Given the description of an element on the screen output the (x, y) to click on. 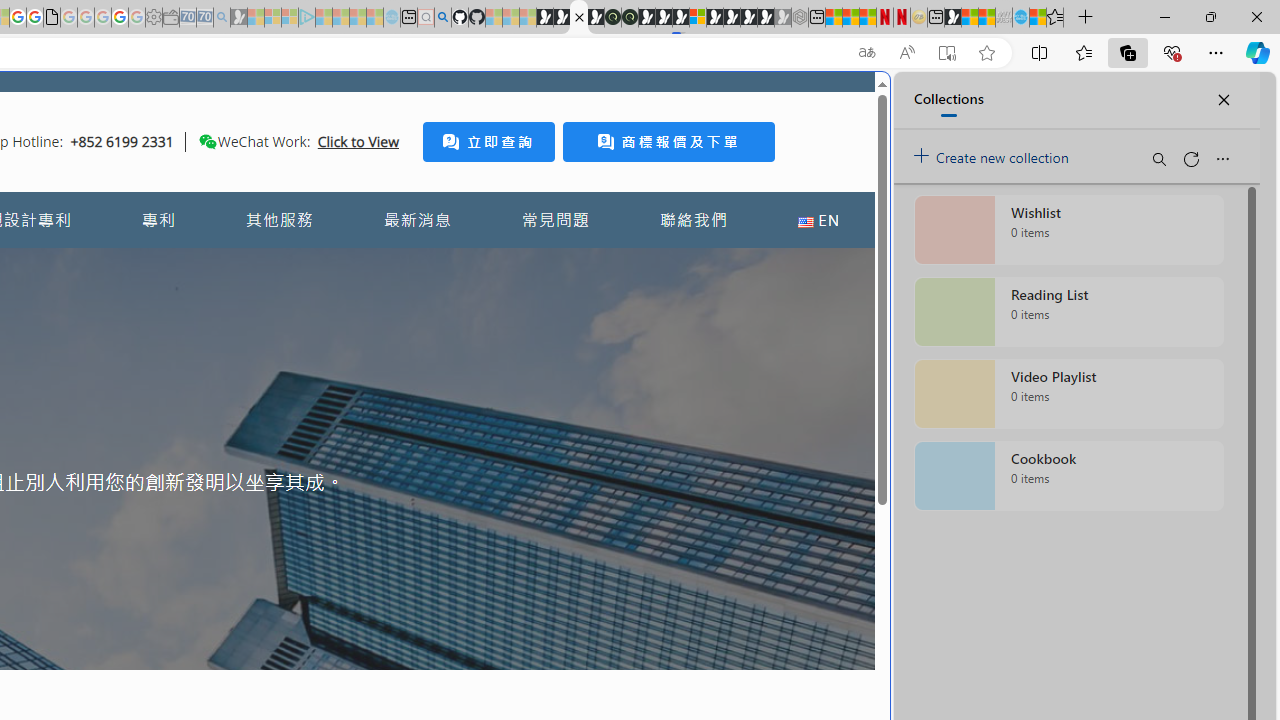
Wallet - Sleeping (170, 17)
Settings - Sleeping (153, 17)
Tabs you've opened (276, 265)
Play Cave FRVR in your browser | Games from Microsoft Start (343, 426)
